Given the description of an element on the screen output the (x, y) to click on. 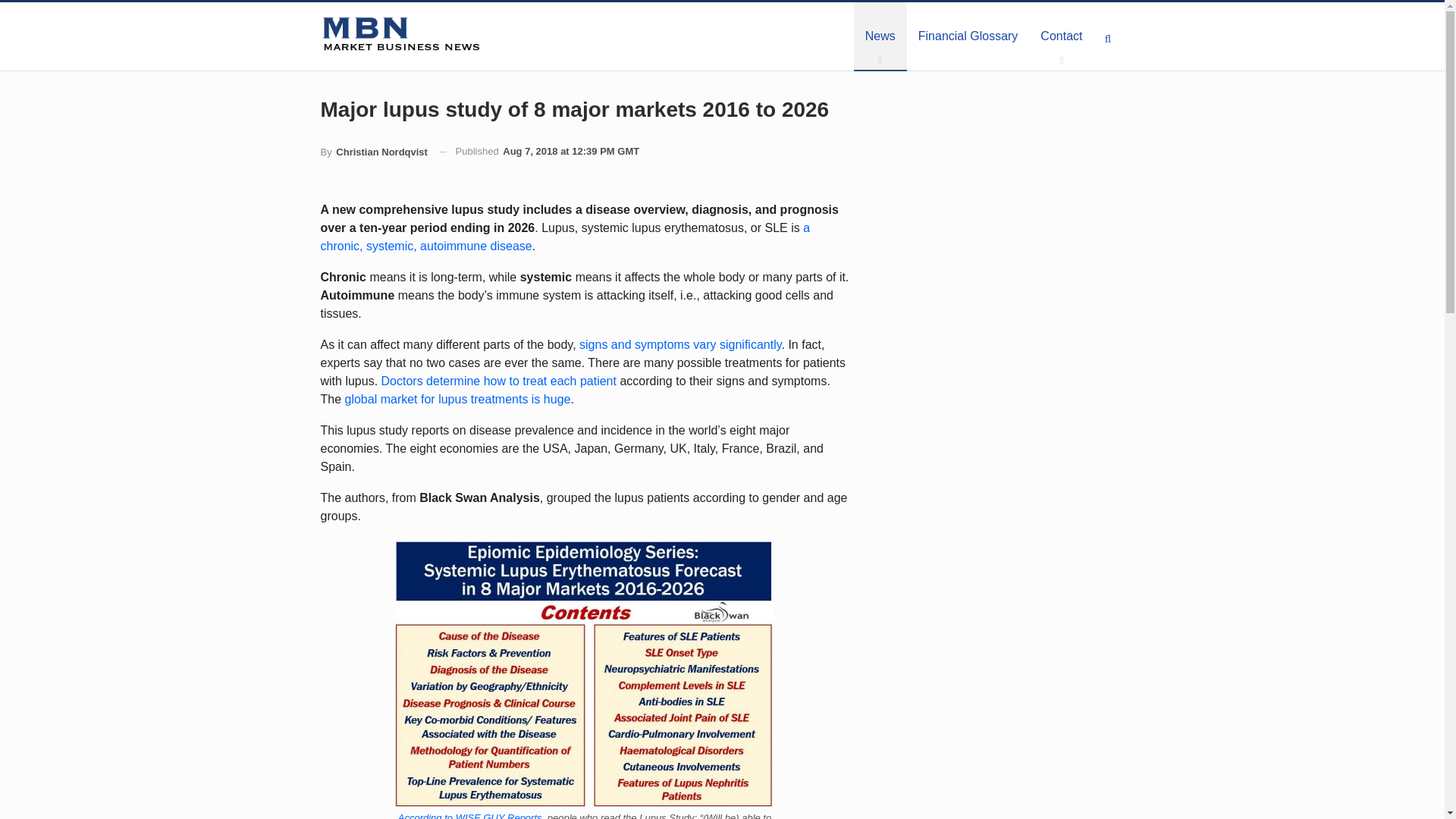
Financial Glossary (968, 36)
By Christian Nordqvist (373, 152)
Contact (1061, 36)
Doctors determine how to treat each patient (498, 380)
According to WISE GUY Reports (469, 815)
global market for lupus treatments is huge (457, 399)
Browse Author Articles (373, 152)
a chronic, systemic, autoimmune disease (564, 236)
signs and symptoms vary significantly (679, 344)
